Given the description of an element on the screen output the (x, y) to click on. 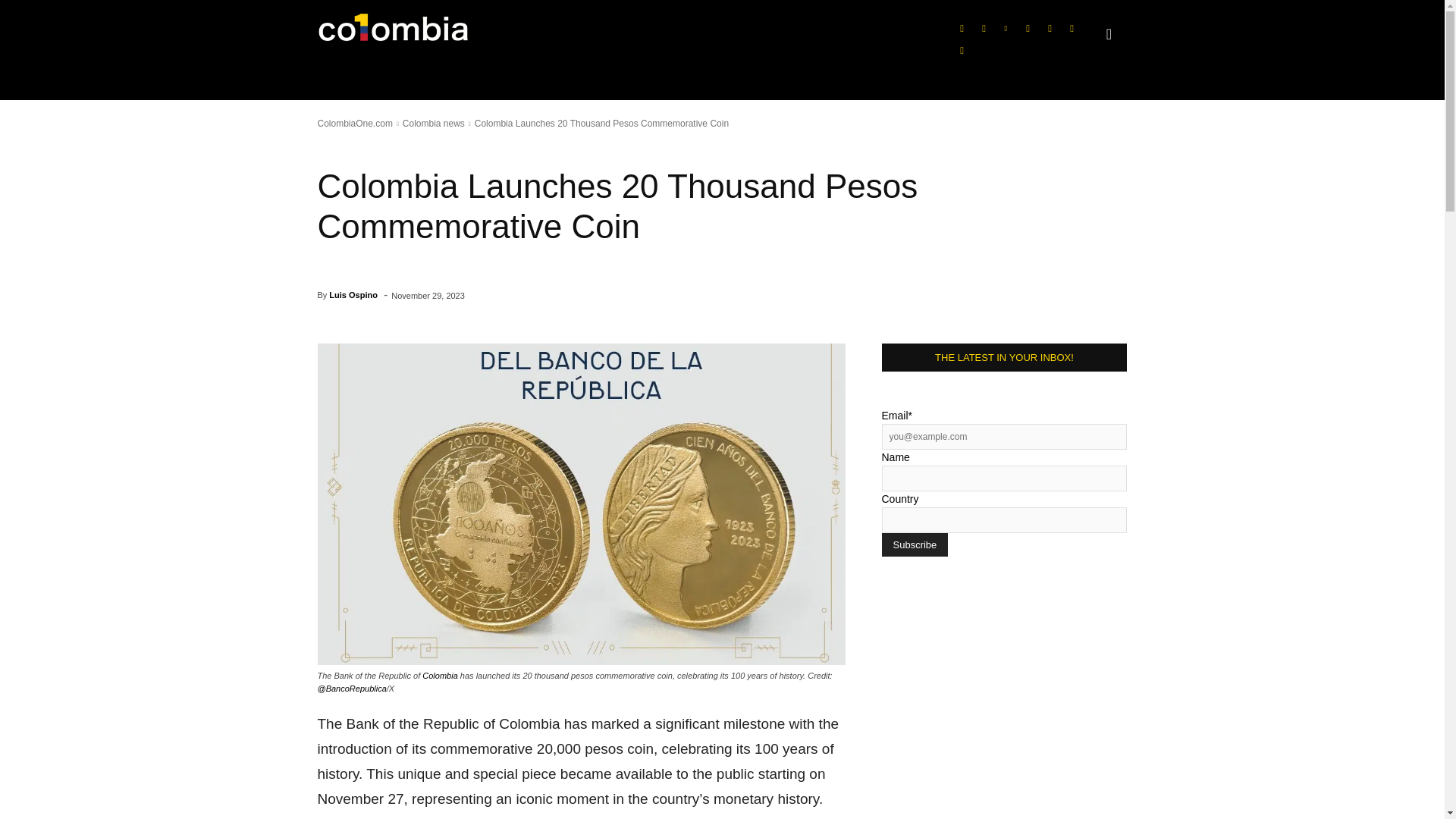
Colombia One: News from Colombia (397, 31)
Colombia One: News from Colombia (392, 31)
Instagram (983, 28)
Subscribe (913, 544)
Youtube (1071, 28)
Twitter (1050, 28)
TikTok (1026, 28)
Linkedin (1005, 28)
Facebook (962, 28)
